Given the description of an element on the screen output the (x, y) to click on. 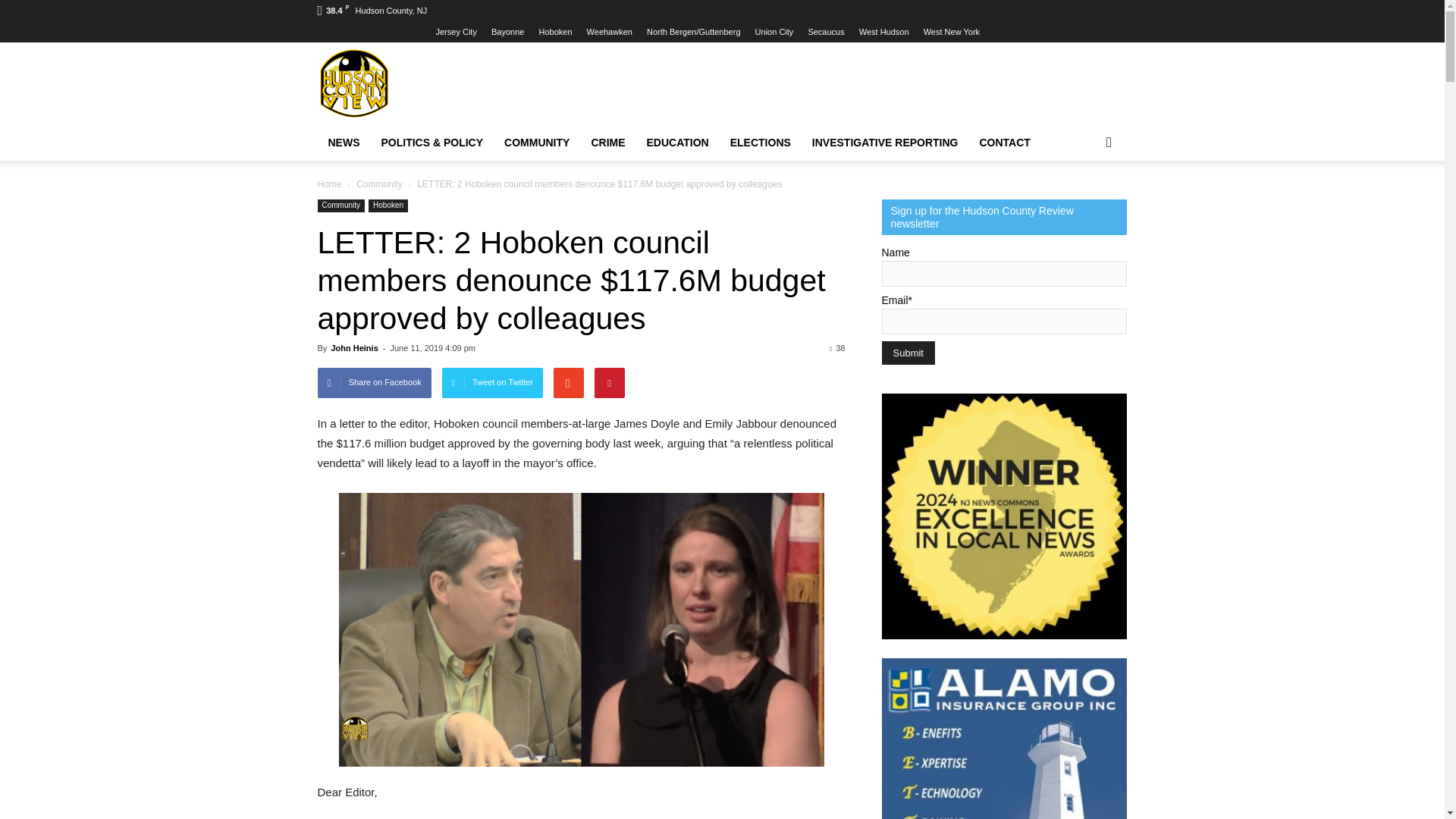
ELECTIONS (760, 142)
View all posts in Community (380, 184)
Bayonne (508, 31)
Jersey City (455, 31)
Union City (774, 31)
CRIME (606, 142)
Hoboken (555, 31)
Weehawken (608, 31)
Submit (907, 352)
CONTACT (1005, 142)
Secaucus (826, 31)
NEWS (343, 142)
COMMUNITY (536, 142)
EDUCATION (677, 142)
West Hudson (883, 31)
